Given the description of an element on the screen output the (x, y) to click on. 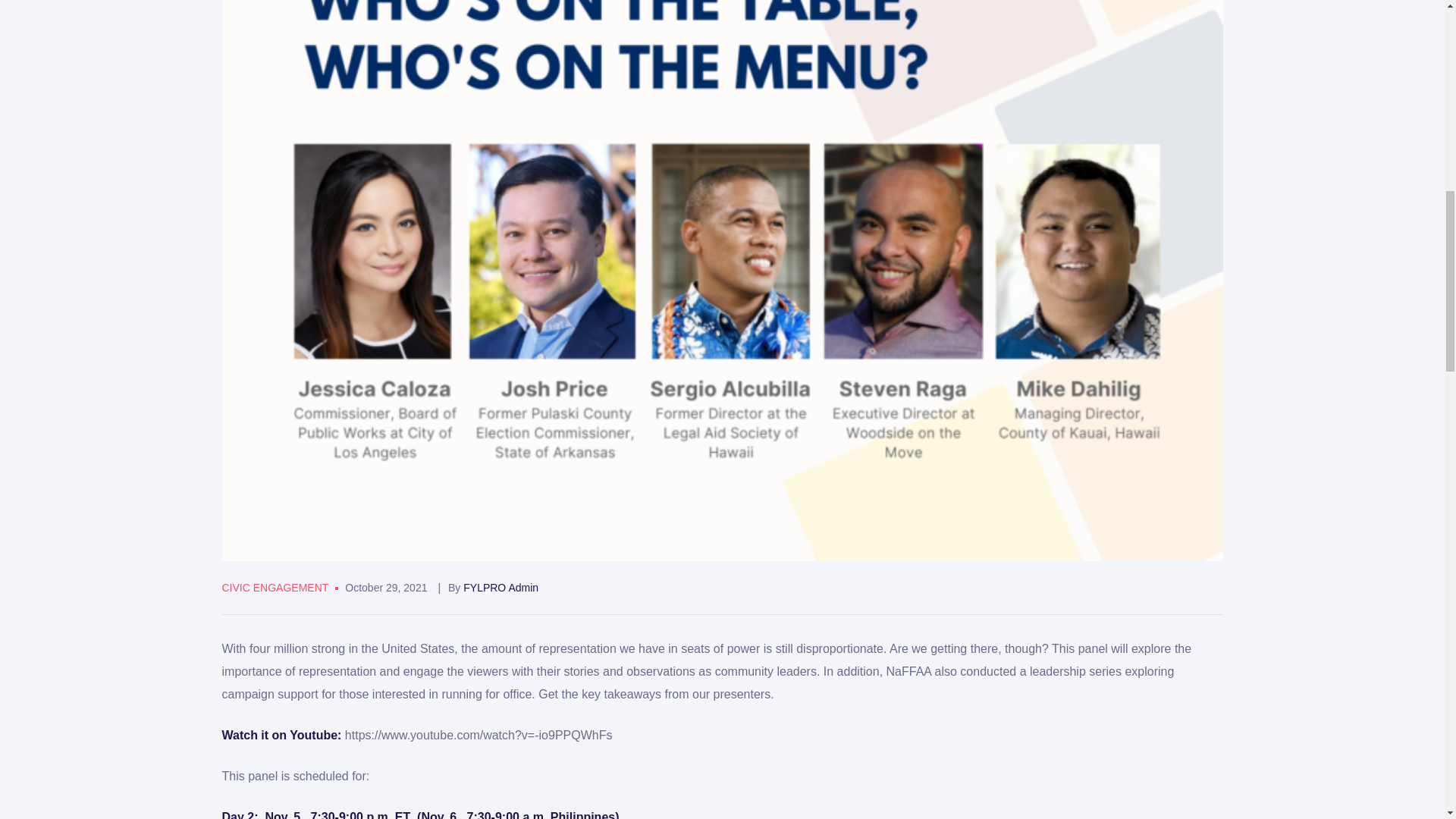
FYLPRO Admin (500, 587)
CIVIC ENGAGEMENT (275, 587)
October 29, 2021 (385, 587)
